Given the description of an element on the screen output the (x, y) to click on. 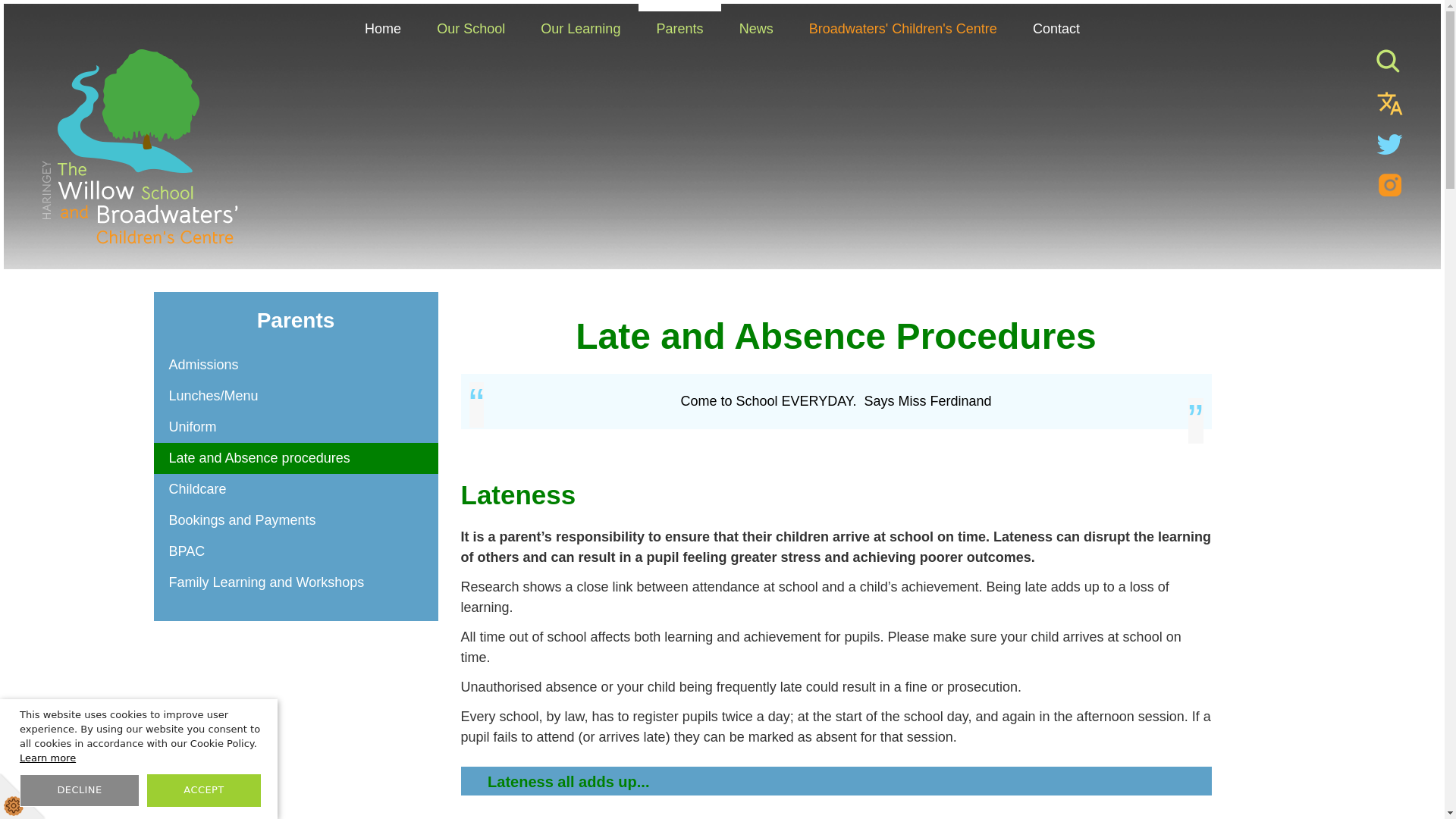
Home (383, 28)
Our School (470, 28)
Our Learning (580, 28)
The Willow School and Broadwaters' Children's Centre (140, 146)
